Given the description of an element on the screen output the (x, y) to click on. 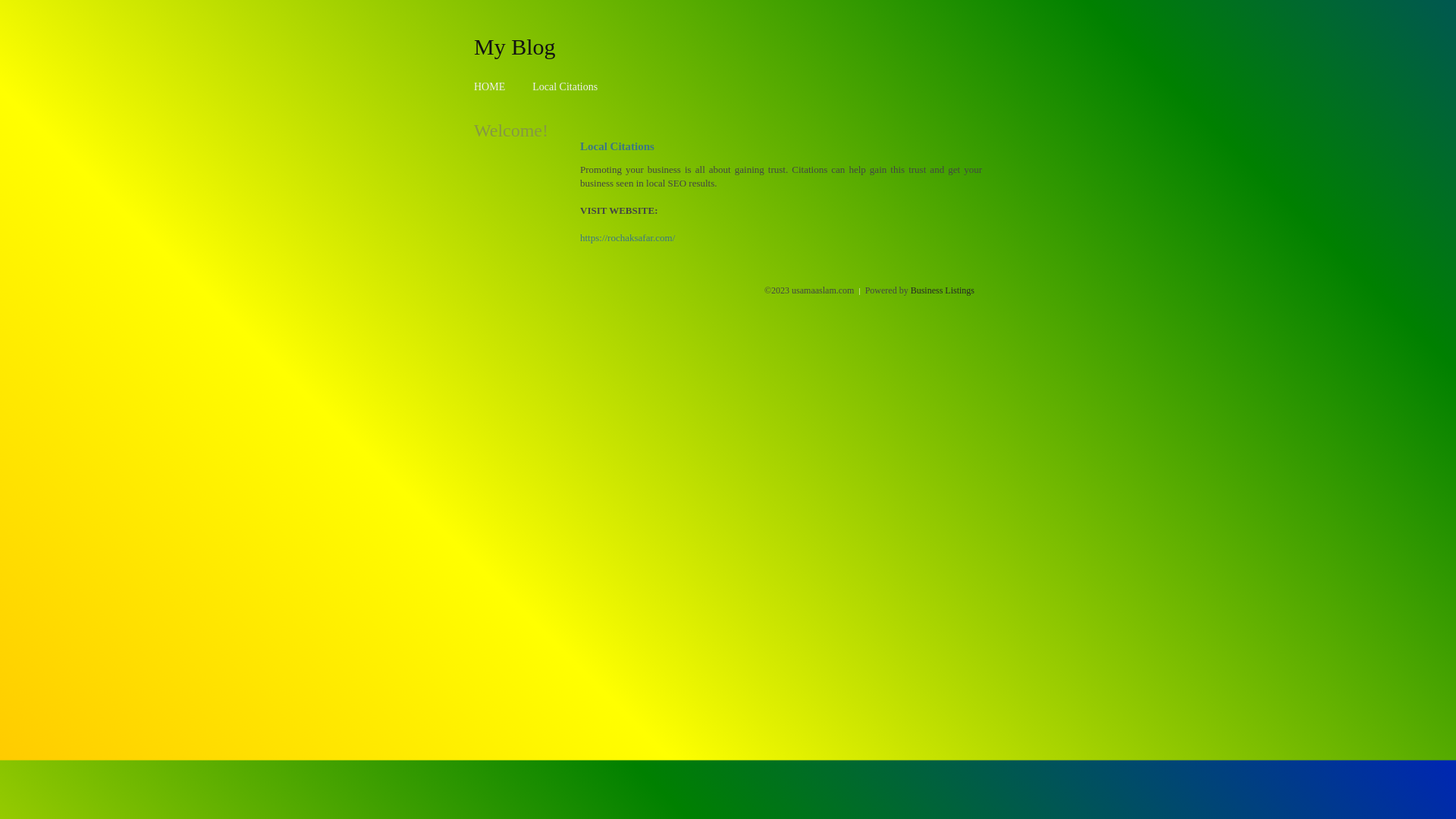
Local Citations Element type: text (564, 86)
https://rochaksafar.com/ Element type: text (627, 237)
My Blog Element type: text (514, 46)
HOME Element type: text (489, 86)
Business Listings Element type: text (942, 290)
